Given the description of an element on the screen output the (x, y) to click on. 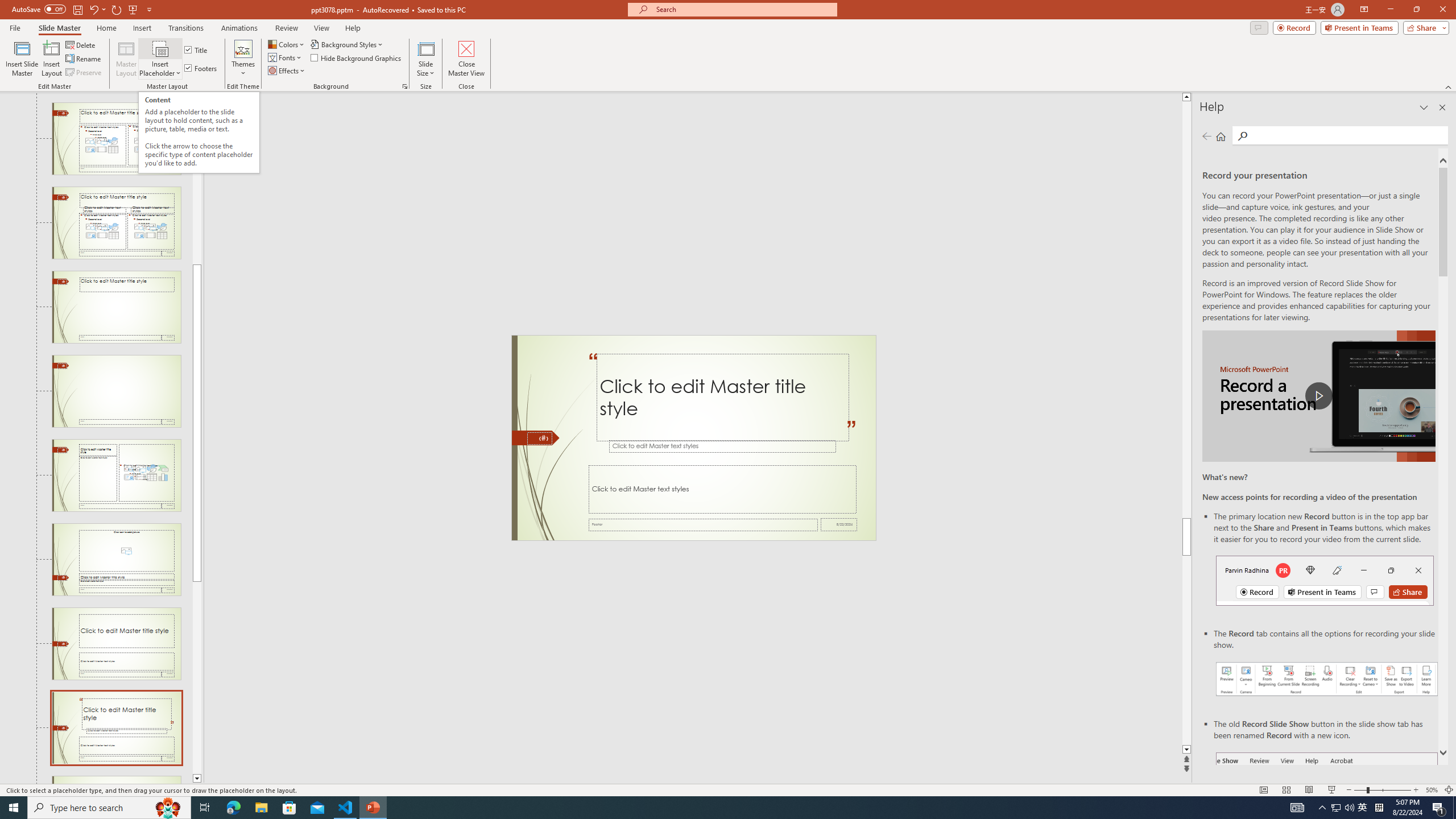
Zoom 50% (1431, 790)
Record your presentations screenshot one (1326, 678)
Slide Picture with Caption Layout: used by no slides (116, 559)
Footers (201, 67)
Slide Two Content Layout: used by no slides (116, 138)
